Given the description of an element on the screen output the (x, y) to click on. 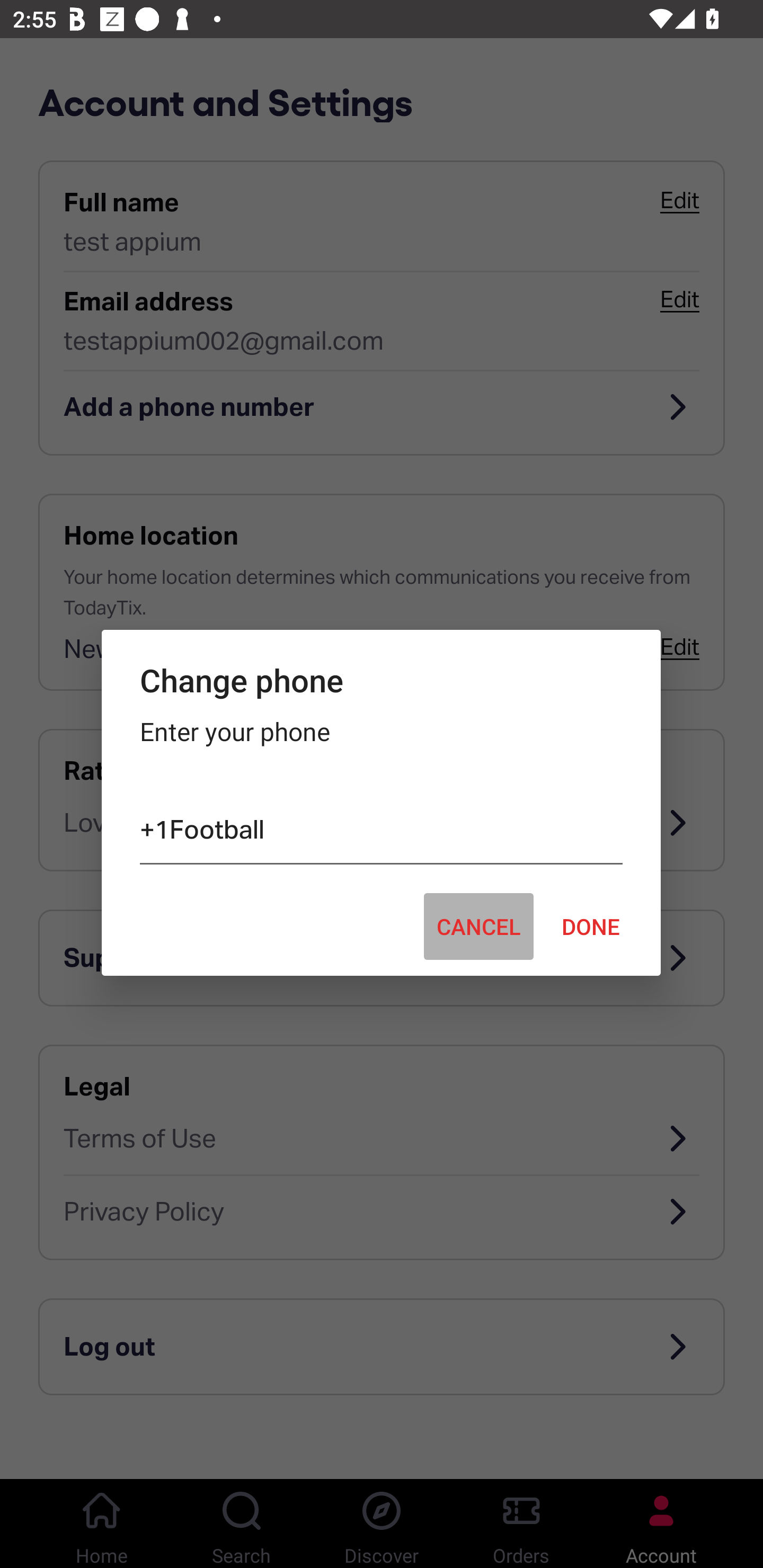
+1Football (380, 833)
CANCEL (478, 926)
DONE (590, 926)
